Given the description of an element on the screen output the (x, y) to click on. 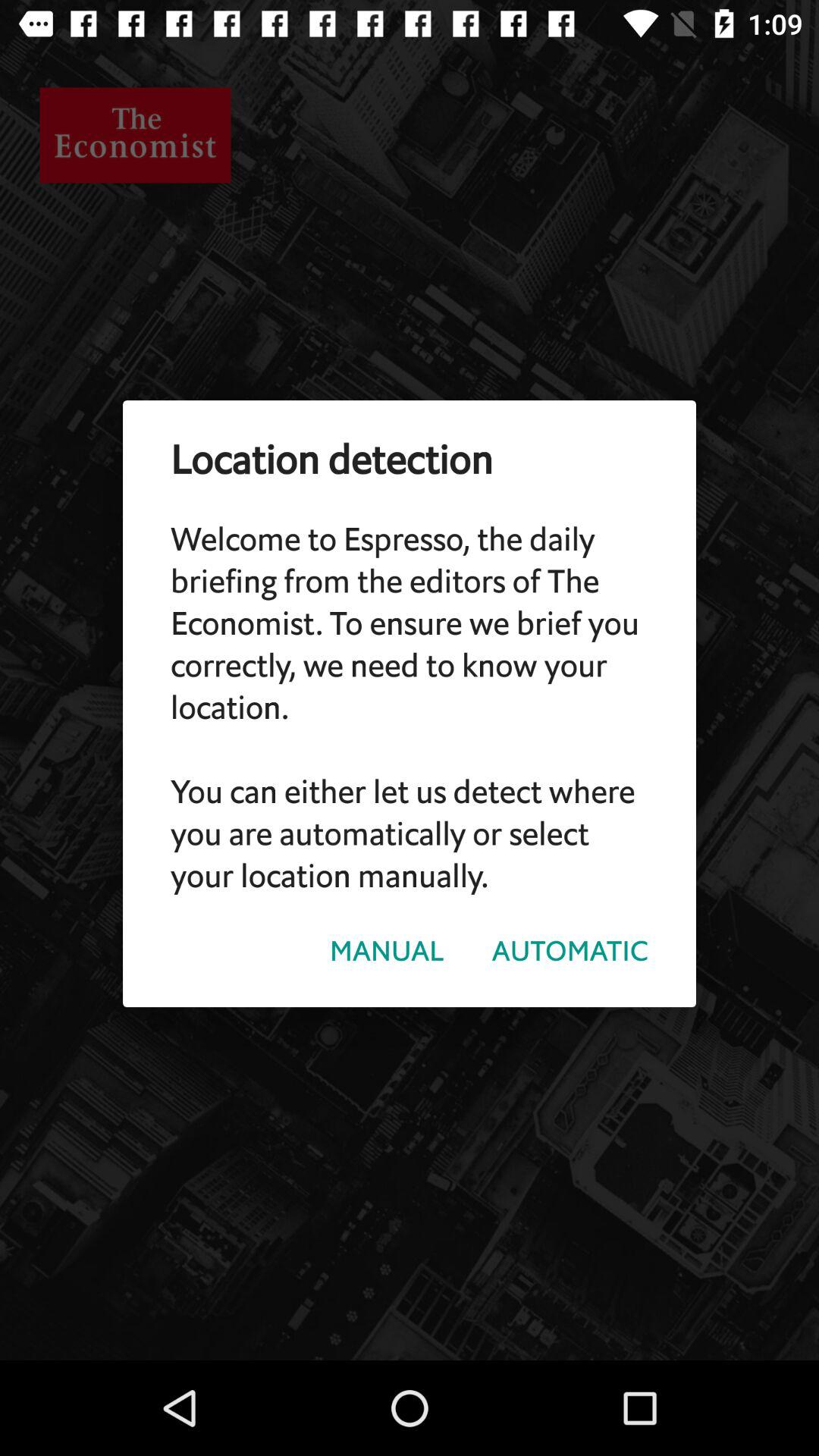
select the icon next to manual button (570, 951)
